Given the description of an element on the screen output the (x, y) to click on. 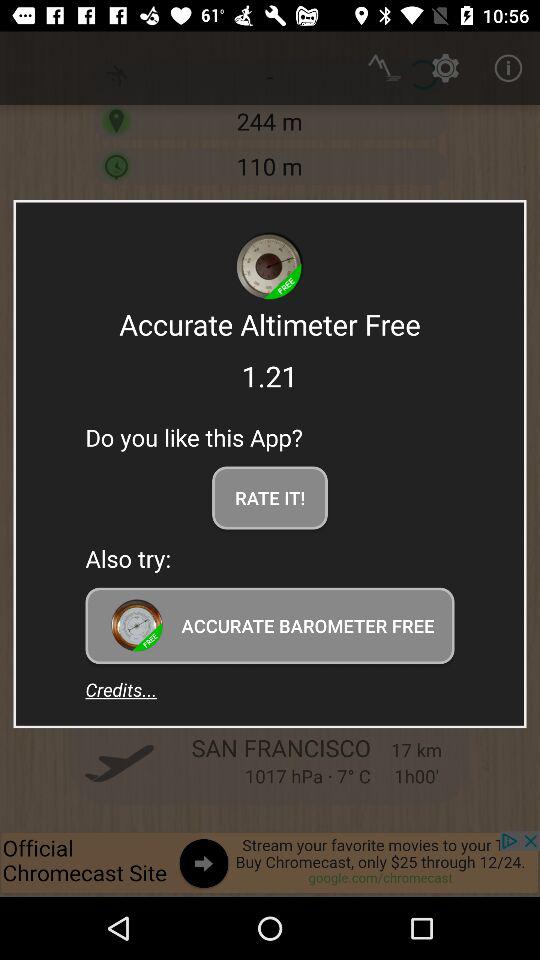
select credits... app (121, 689)
